Given the description of an element on the screen output the (x, y) to click on. 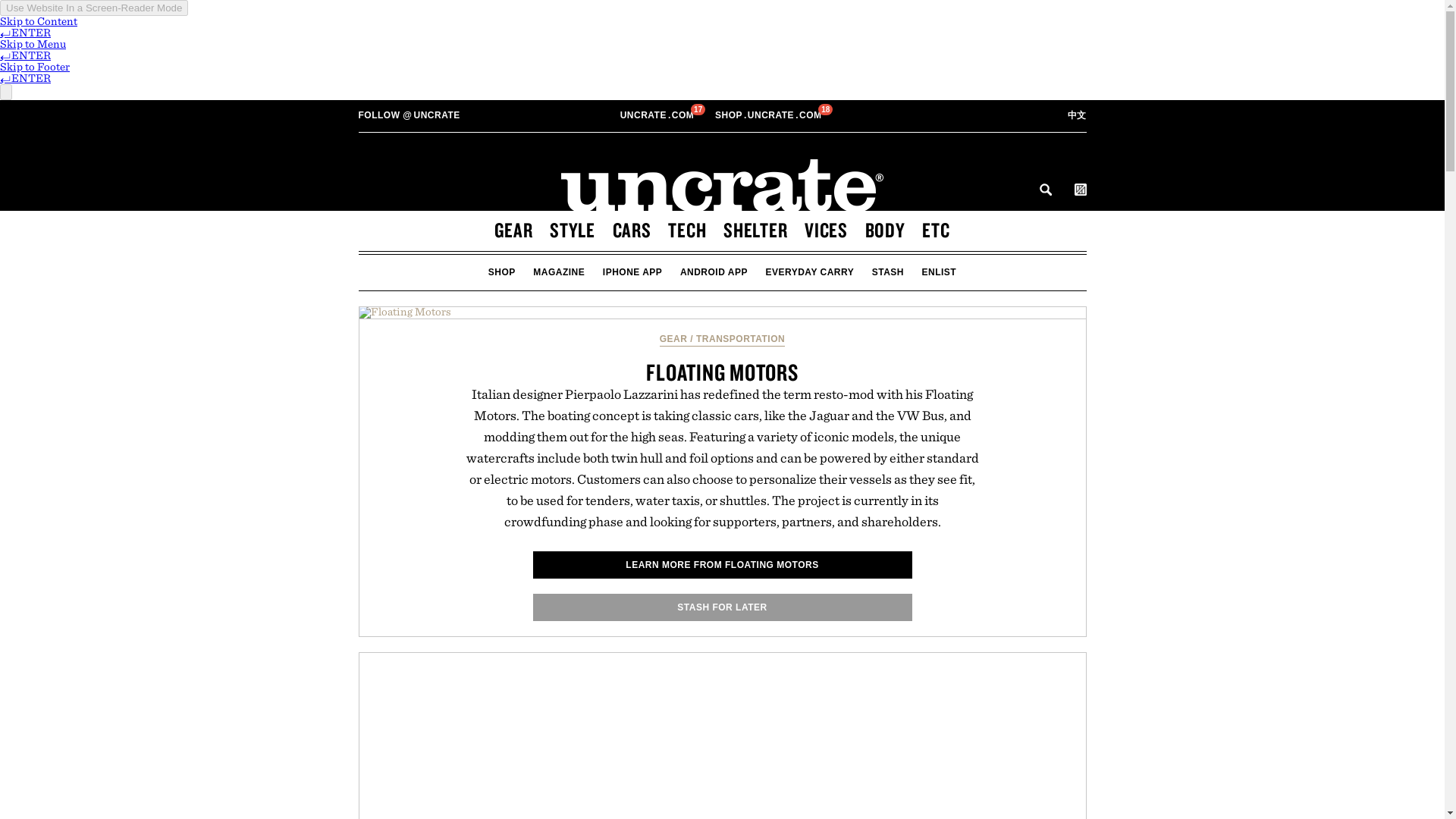
3rd party ad content (658, 114)
Floating Motors (725, 735)
